Given the description of an element on the screen output the (x, y) to click on. 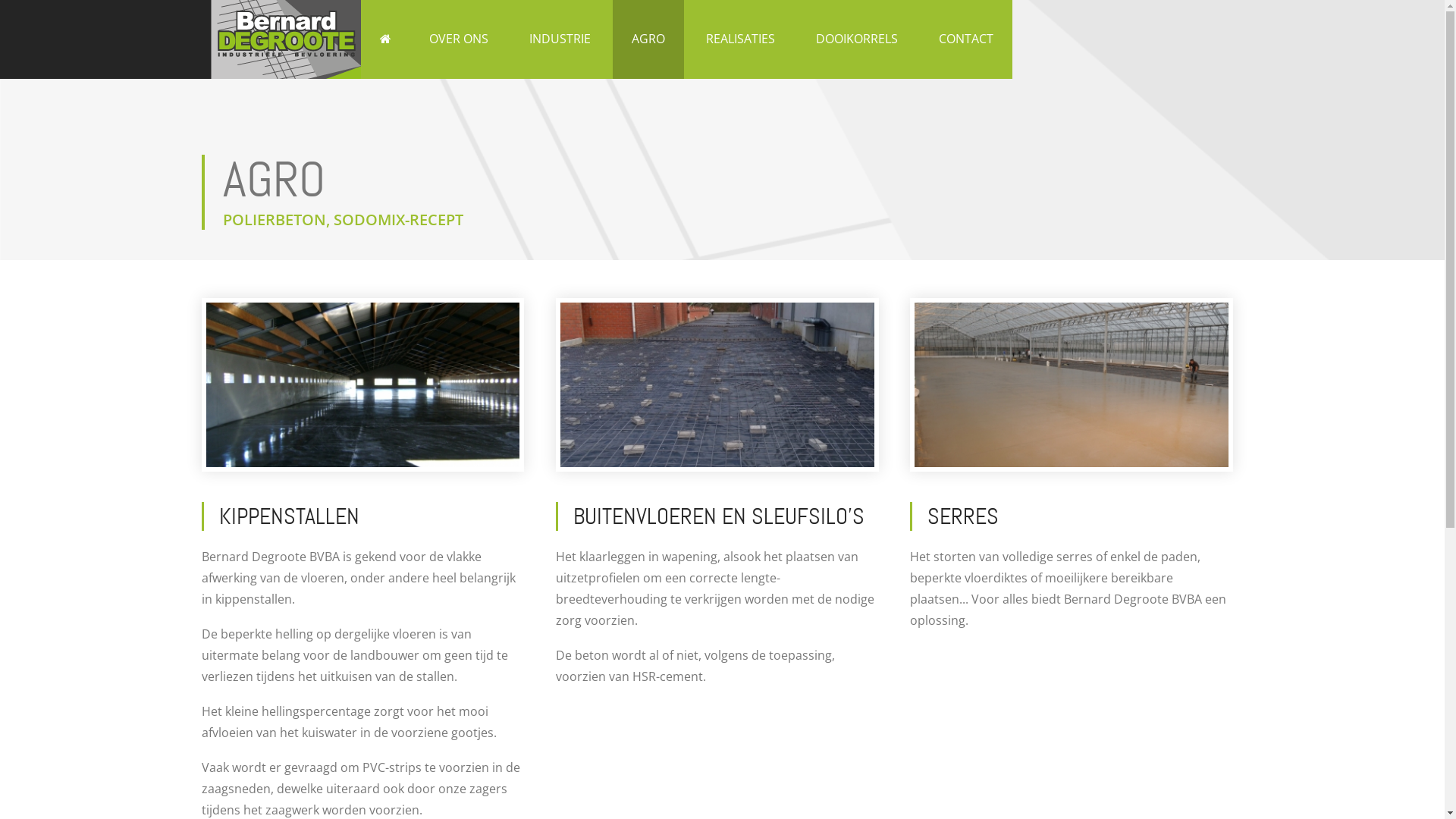
Buitenvloeren en sleufsilo's Element type: hover (716, 384)
Kippenstallen Element type: hover (362, 384)
CONTACT Element type: text (965, 39)
Serres Element type: hover (1071, 384)
INDUSTRIE Element type: text (558, 39)
OVER ONS Element type: text (457, 39)
REALISATIES Element type: text (740, 39)
DOOIKORRELS Element type: text (856, 39)
AGRO Element type: text (648, 39)
